Given the description of an element on the screen output the (x, y) to click on. 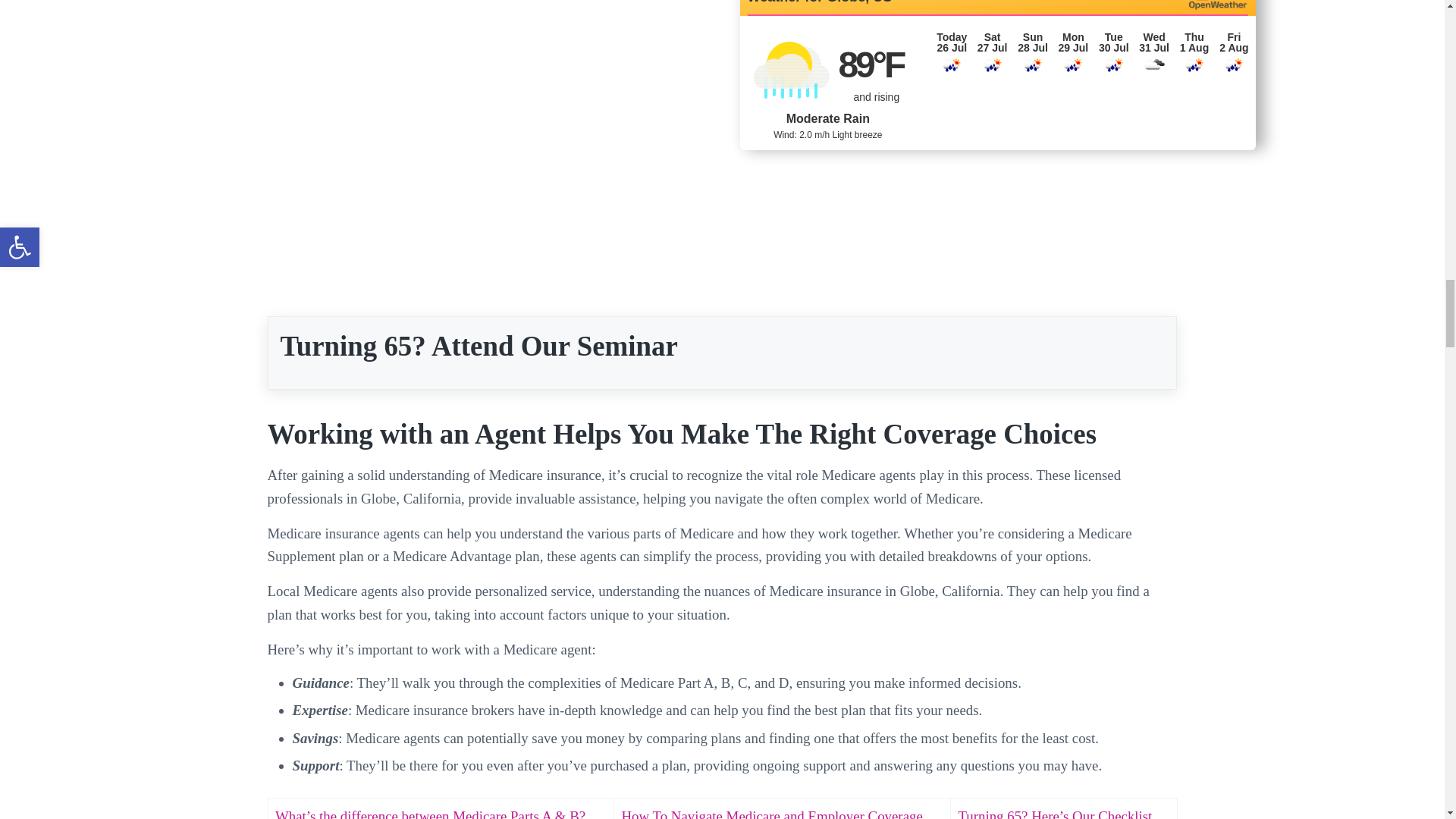
How To Navigate Medicare and Employer Coverage (771, 813)
